Given the description of an element on the screen output the (x, y) to click on. 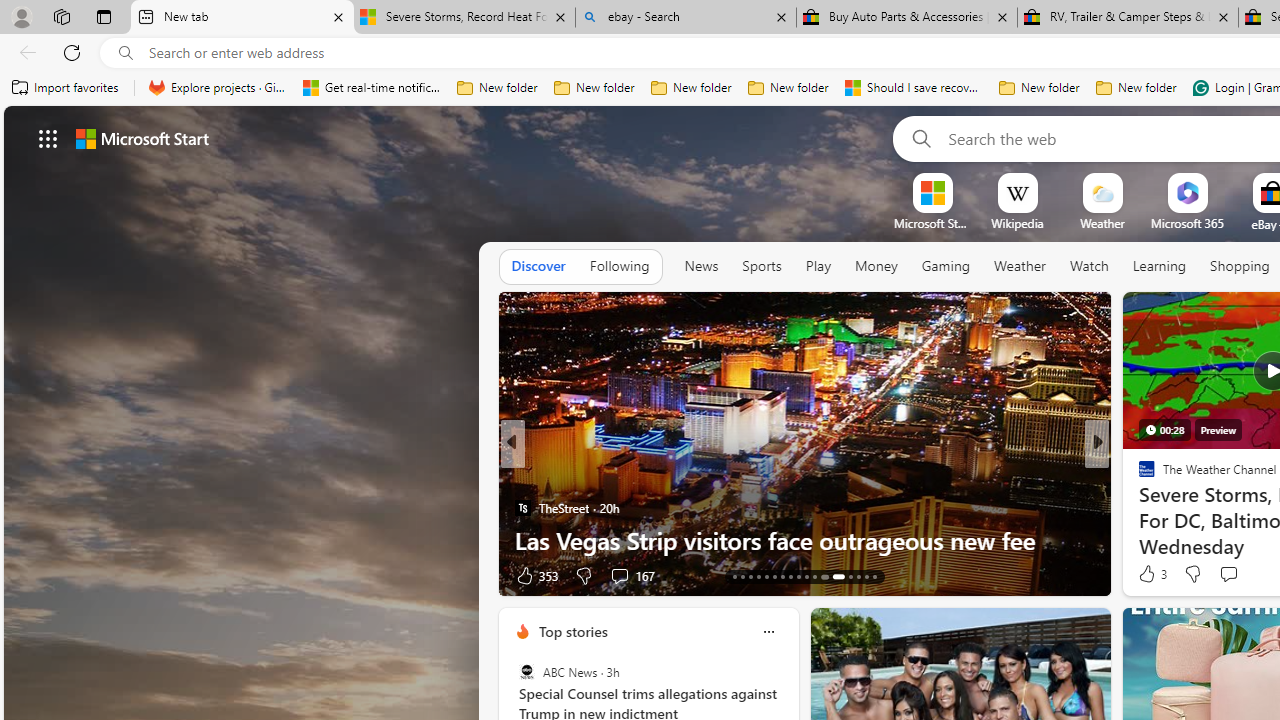
3 Like (1151, 574)
Start the conversation (1227, 574)
Microsoft 365 (1186, 223)
AutomationID: tab-29 (874, 576)
AutomationID: tab-28 (865, 576)
View comments 167 Comment (619, 575)
Watch (1089, 265)
TheStreet (522, 507)
AutomationID: tab-18 (774, 576)
Play (817, 265)
Las Vegas Strip visitors face outrageous new fee (804, 539)
To get missing image descriptions, open the context menu. (932, 192)
App launcher (47, 138)
View comments 167 Comment (632, 574)
